Given the description of an element on the screen output the (x, y) to click on. 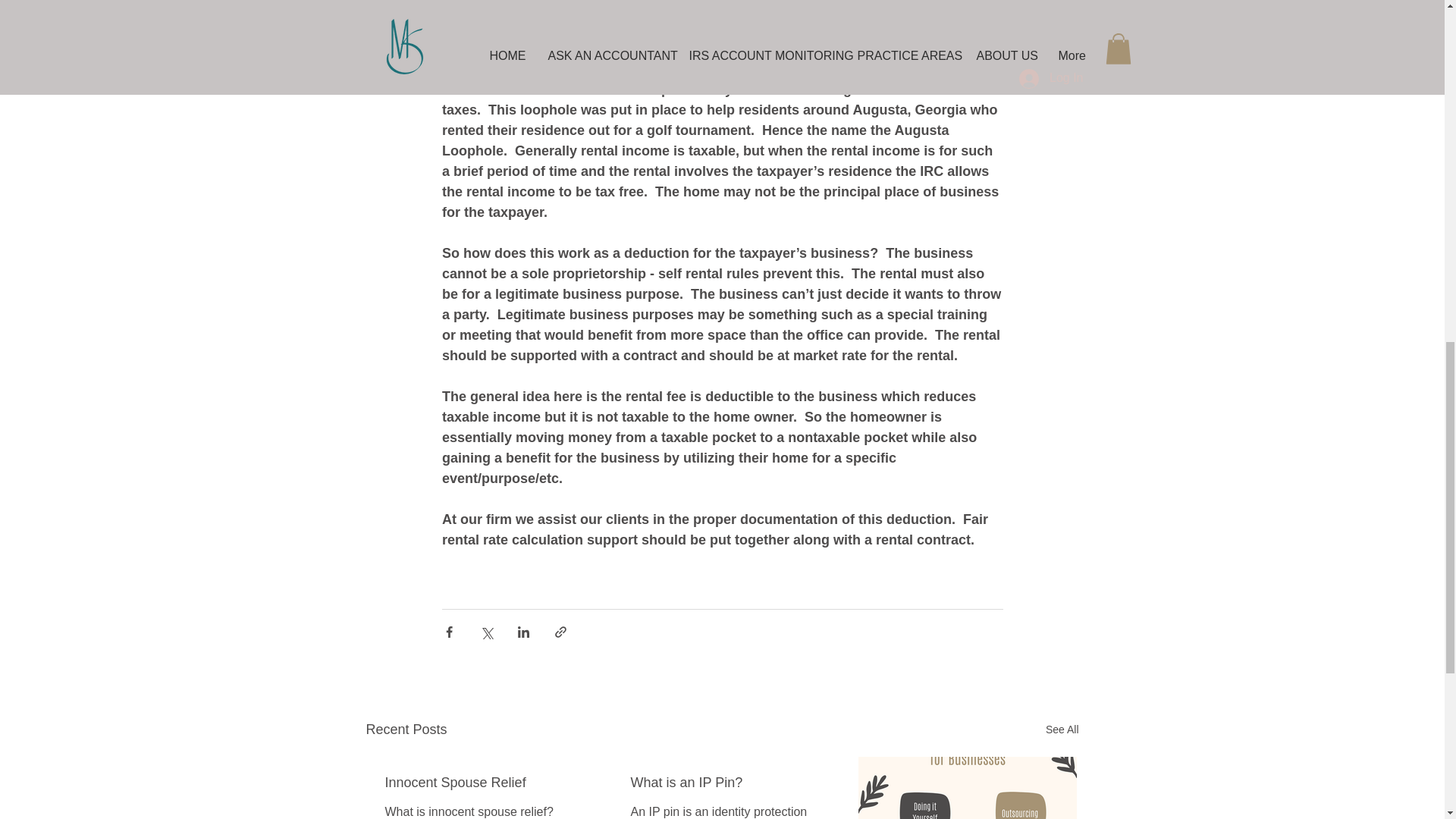
What is an IP Pin? (721, 782)
See All (1061, 730)
Innocent Spouse Relief (476, 782)
